Given the description of an element on the screen output the (x, y) to click on. 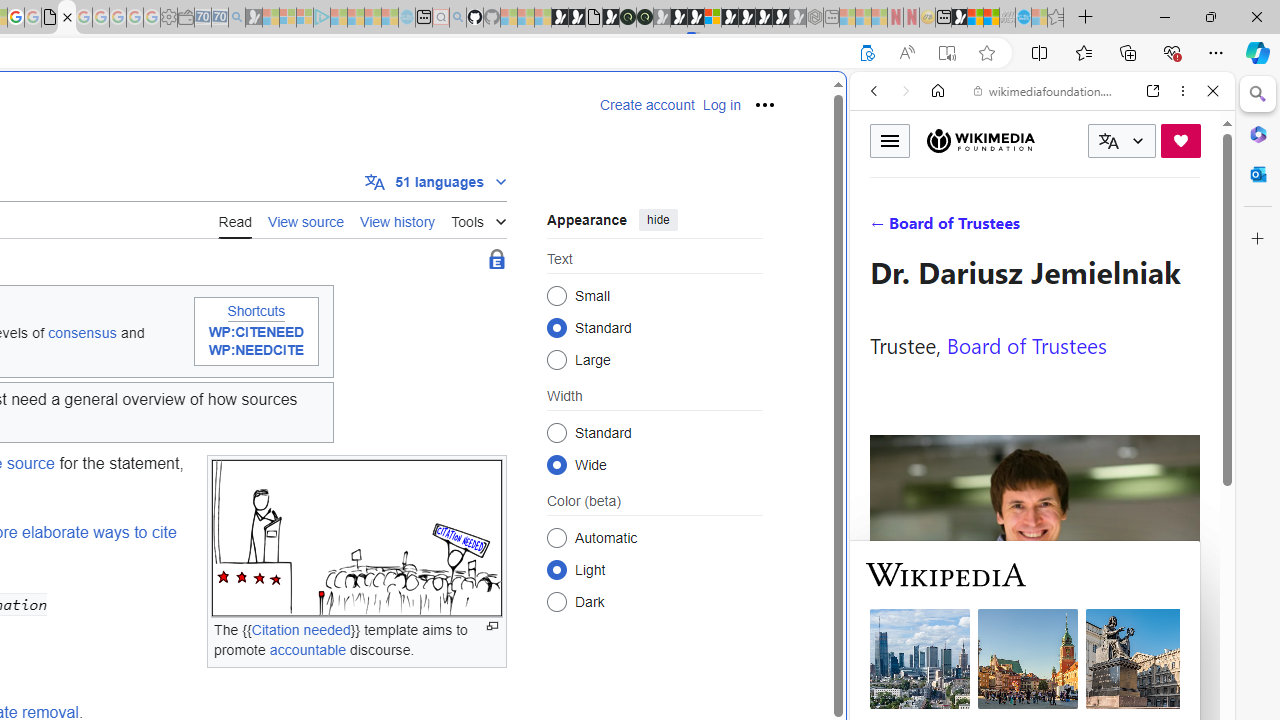
Read (235, 219)
View history (397, 219)
Read (235, 219)
Class: i icon icon-translate language-switcher__icon (1108, 141)
View source (306, 219)
Class: mw-list-item mw-list-item-js (654, 569)
